Given the description of an element on the screen output the (x, y) to click on. 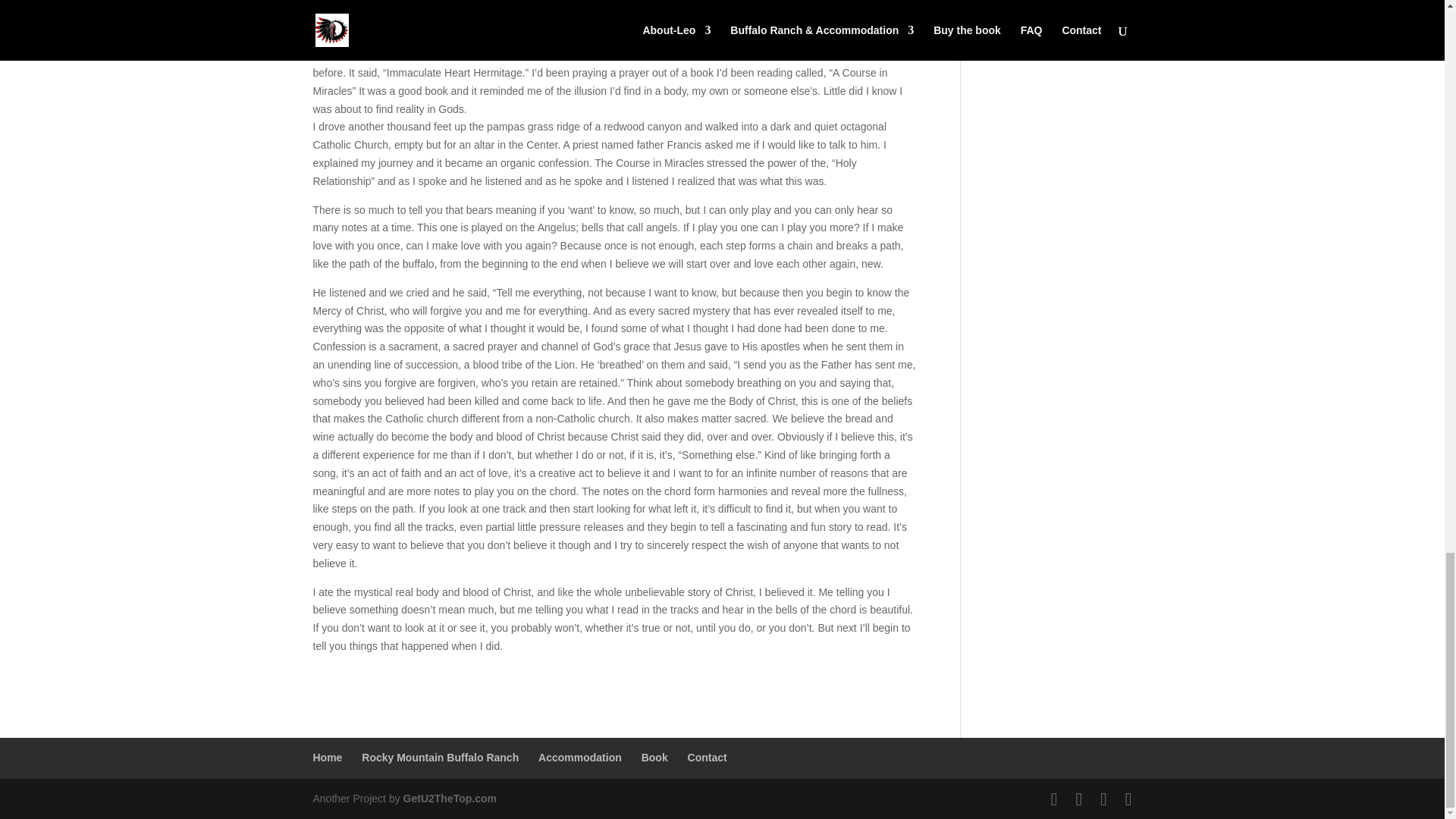
Accommodation (579, 757)
Home (327, 757)
Book (655, 757)
Rocky Mountain Buffalo Ranch (439, 757)
Contact (706, 757)
GetU2TheTop.com (449, 798)
